Given the description of an element on the screen output the (x, y) to click on. 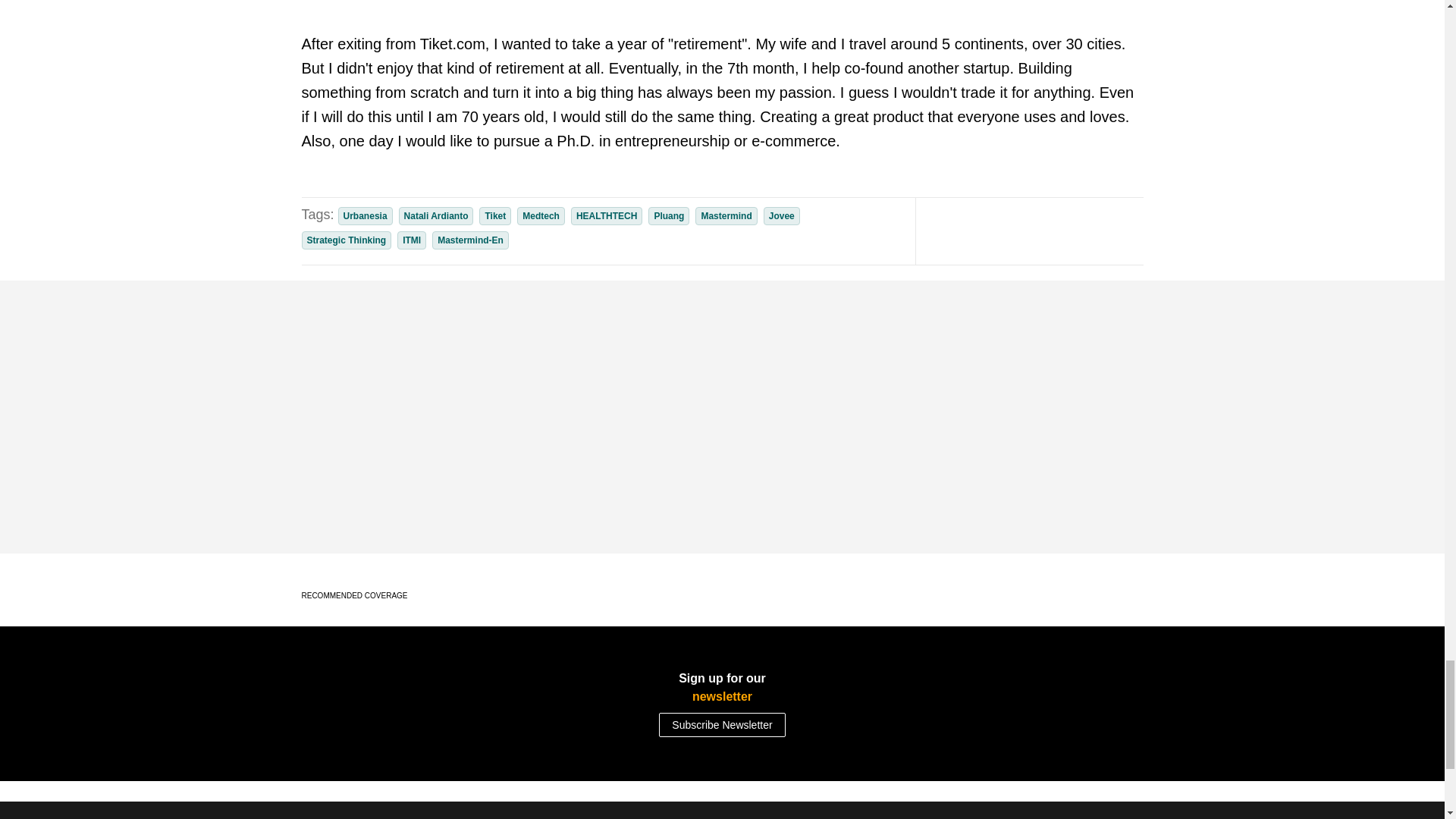
Share this article (1042, 230)
Share this article (1103, 230)
Share this article (1013, 230)
Share this article (1073, 230)
